Given the description of an element on the screen output the (x, y) to click on. 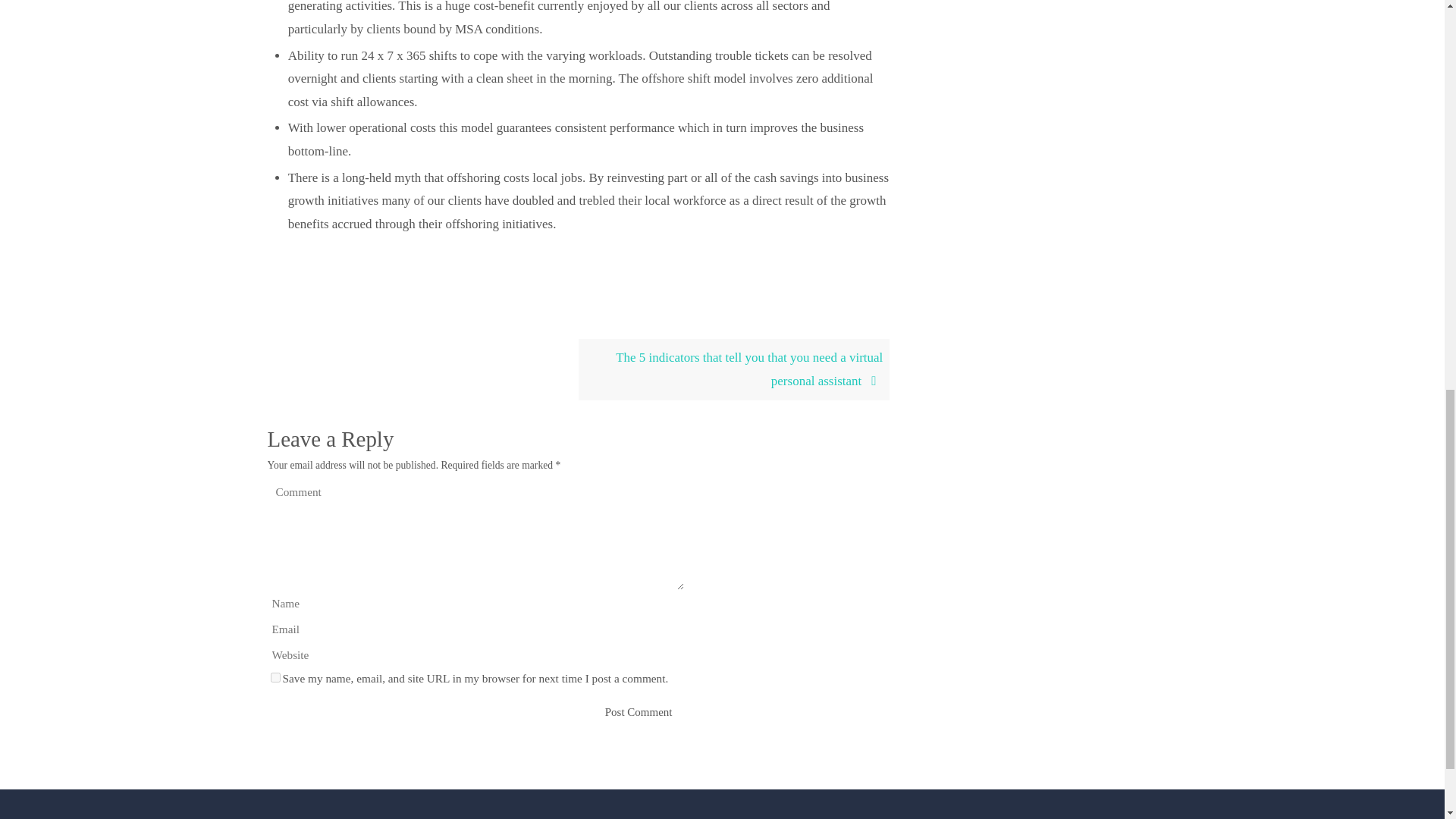
Post Comment (638, 712)
Post Comment (638, 712)
yes (274, 677)
